Given the description of an element on the screen output the (x, y) to click on. 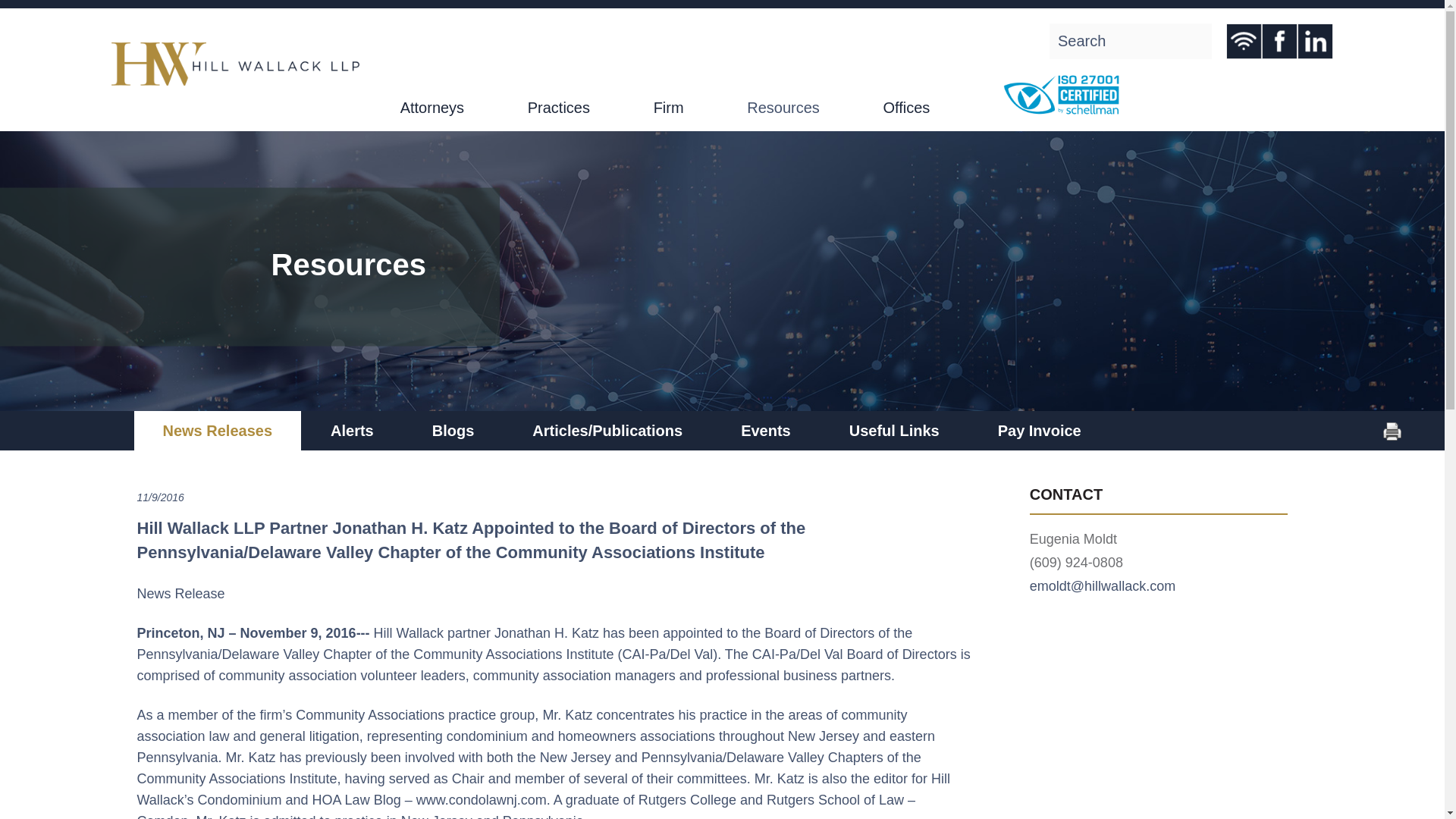
Attorneys (432, 107)
rss (1243, 40)
linkedin (1315, 40)
facebook (1279, 40)
View as PDF (1391, 437)
Practices (558, 107)
